Given the description of an element on the screen output the (x, y) to click on. 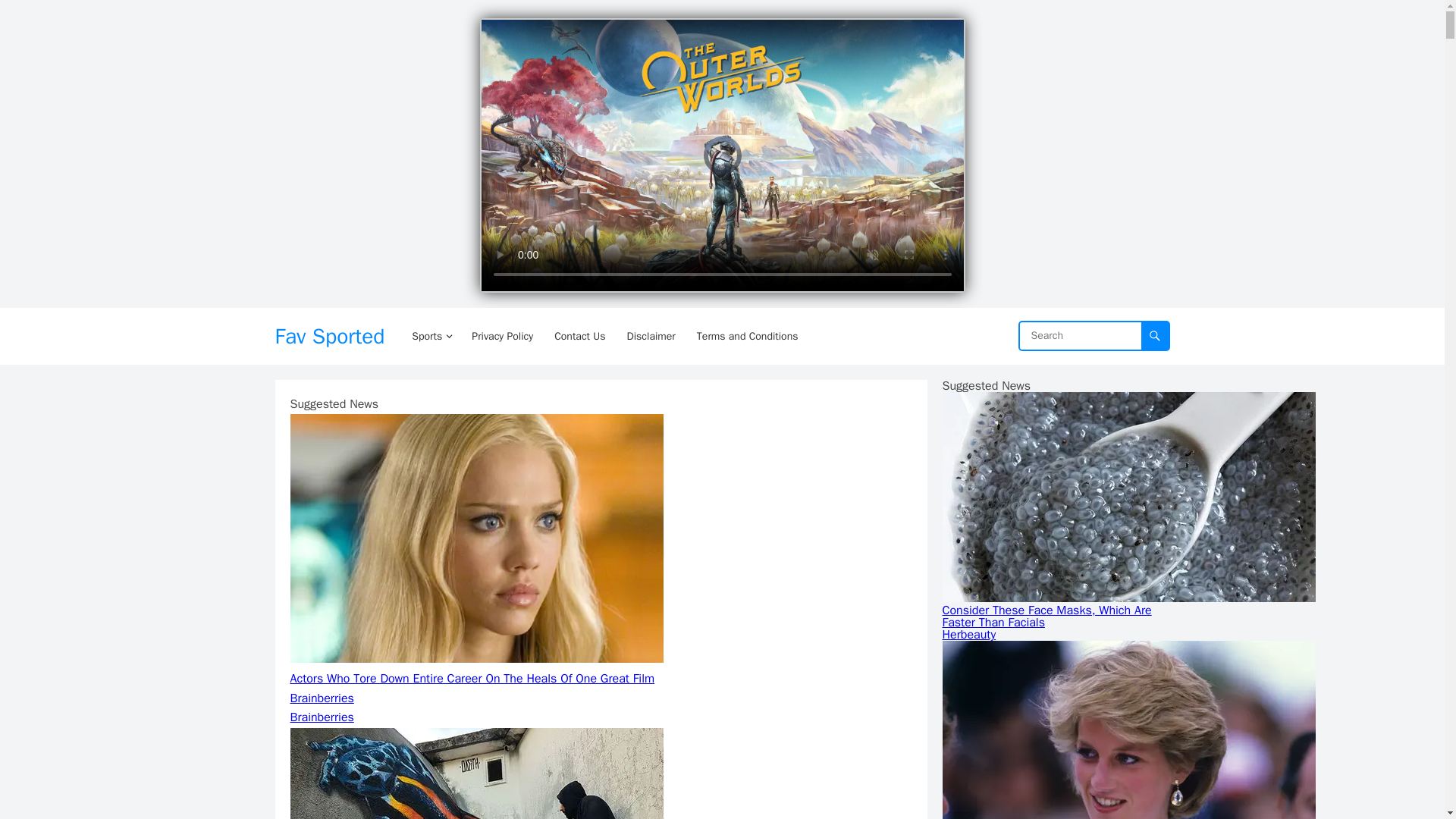
Contact Us (579, 335)
Sports (431, 335)
Disclaimer (650, 335)
Close (947, 30)
Privacy Policy (502, 335)
Fav Sported (329, 335)
Close (947, 30)
Terms and Conditions (747, 335)
